Given the description of an element on the screen output the (x, y) to click on. 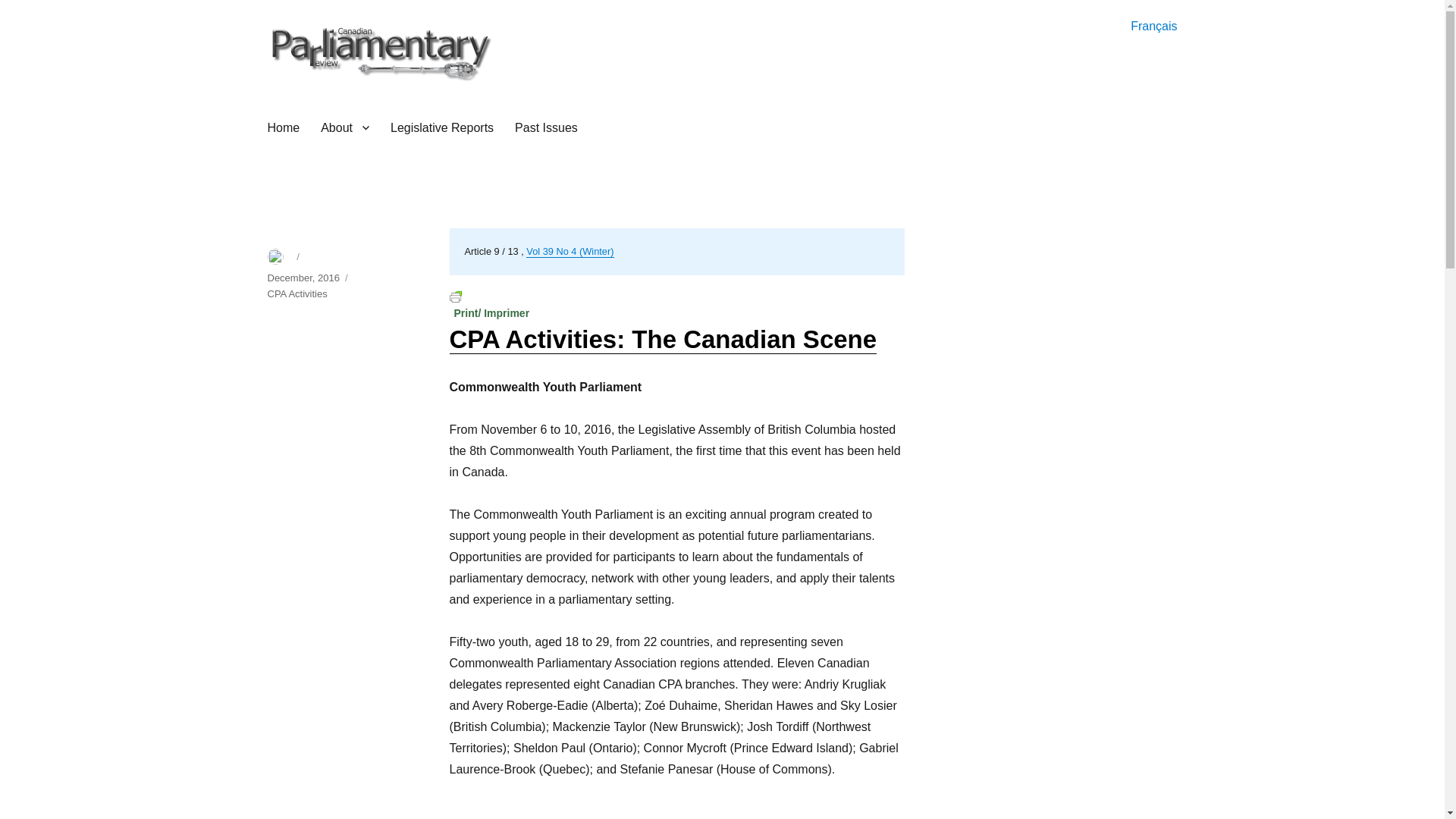
Past Issues (545, 127)
CPA Activities (296, 293)
CPA Activities: The Canadian Scene (662, 338)
Home (283, 127)
Legislative Reports (441, 127)
About (345, 127)
December, 2016 (302, 277)
